Given the description of an element on the screen output the (x, y) to click on. 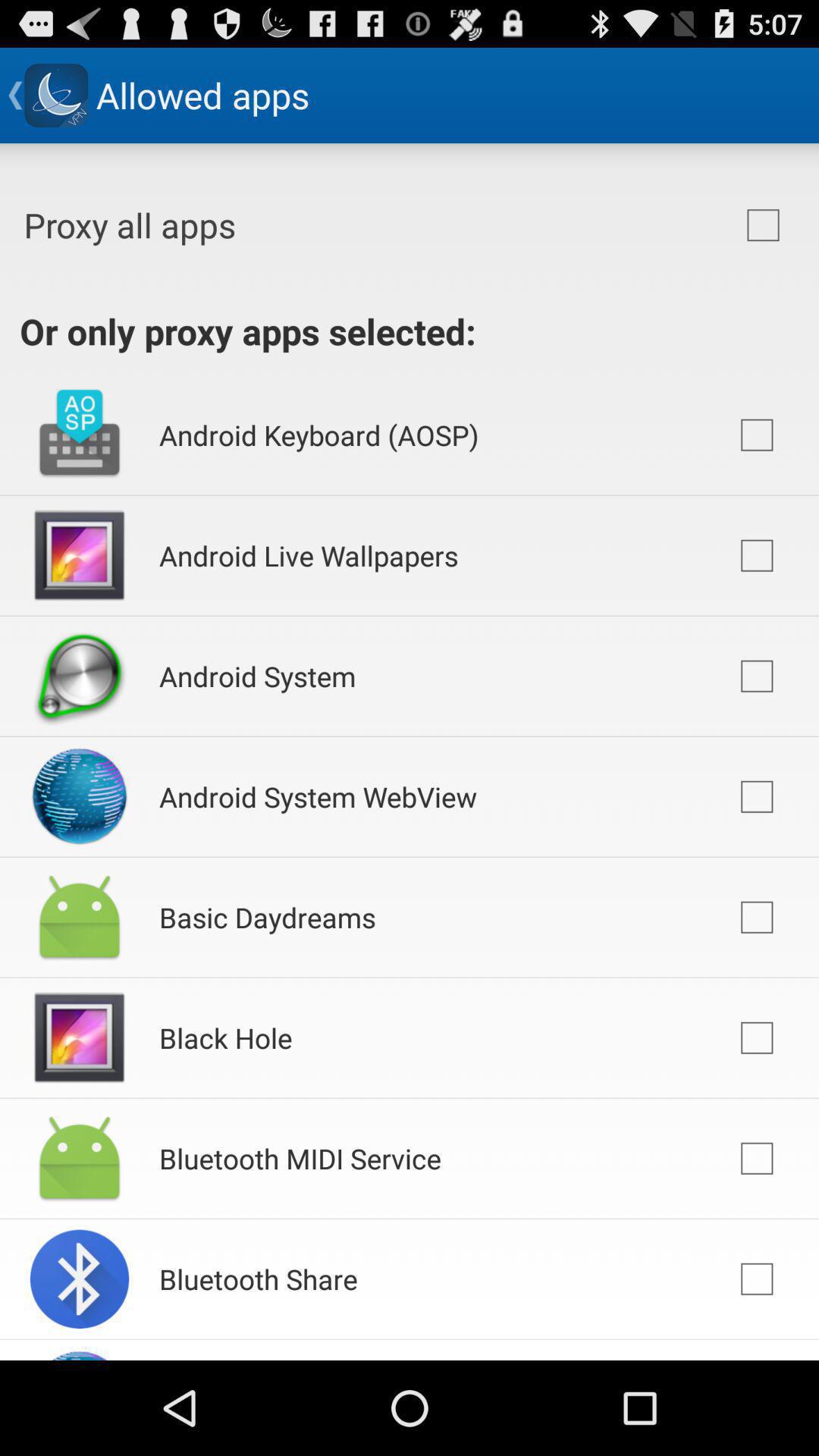
flip until basic daydreams (267, 917)
